Given the description of an element on the screen output the (x, y) to click on. 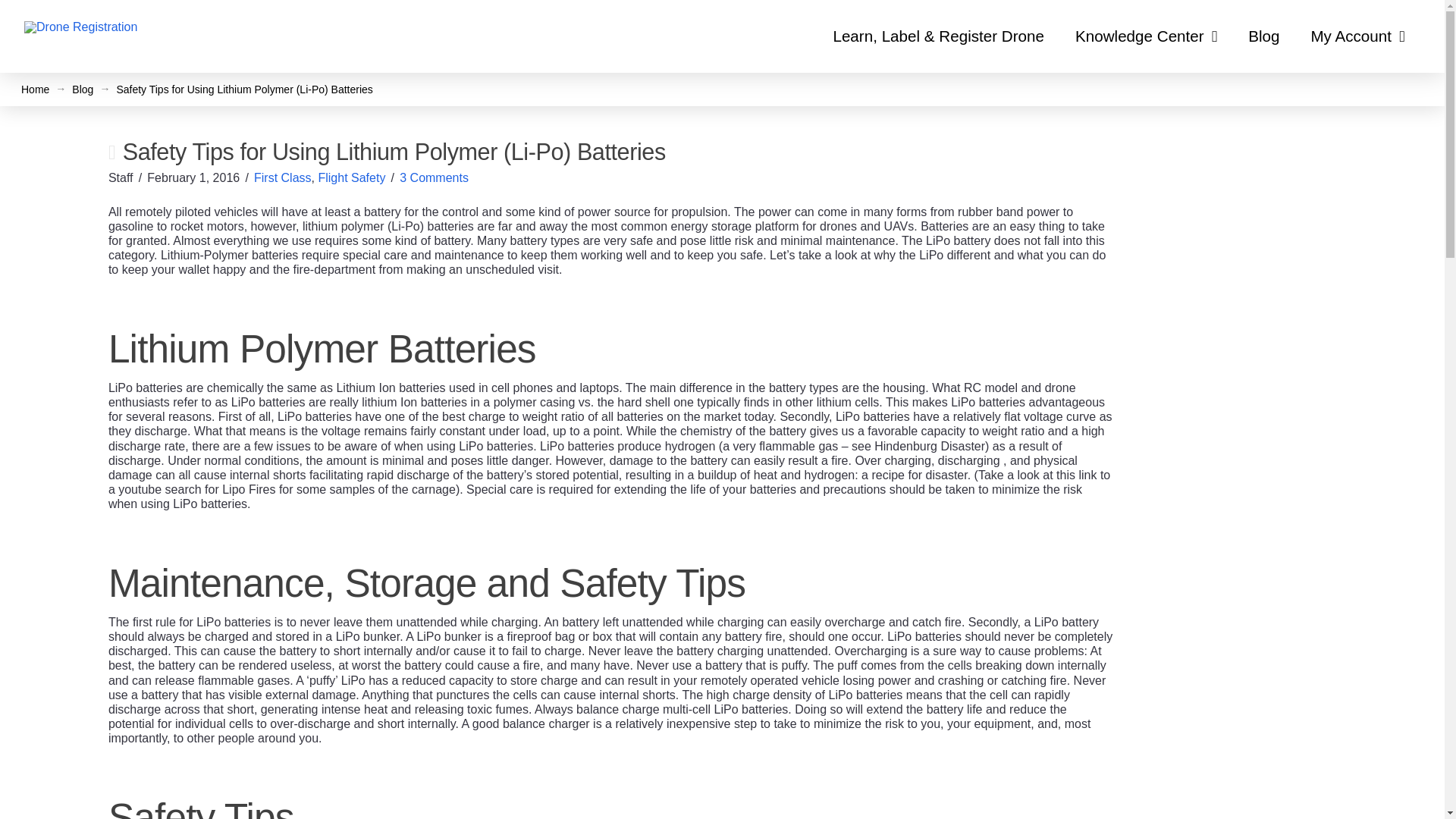
Knowledge Center (1146, 36)
My Account (1358, 36)
Home (35, 89)
Blog (82, 89)
3 Comments (433, 177)
Flight Safety (351, 177)
First Class (282, 177)
Knowledge Center (1146, 36)
